Given the description of an element on the screen output the (x, y) to click on. 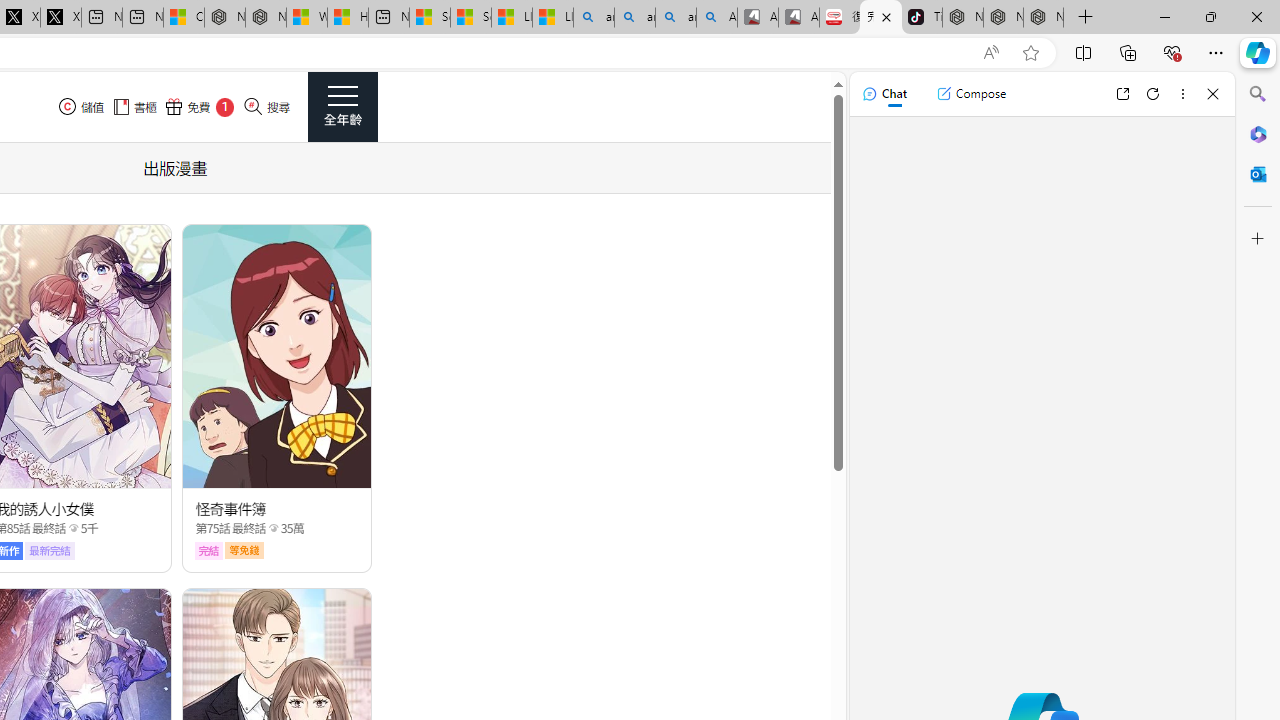
Nordace - Siena Pro 15 Essential Set (1043, 17)
Huge shark washes ashore at New York City beach | Watch (347, 17)
Outlook (1258, 174)
Chat (884, 93)
More options (1182, 93)
amazon - Search (634, 17)
Class: side_menu_btn actionRightMenuBtn (342, 106)
Amazon Echo Robot - Search Images (717, 17)
